Given the description of an element on the screen output the (x, y) to click on. 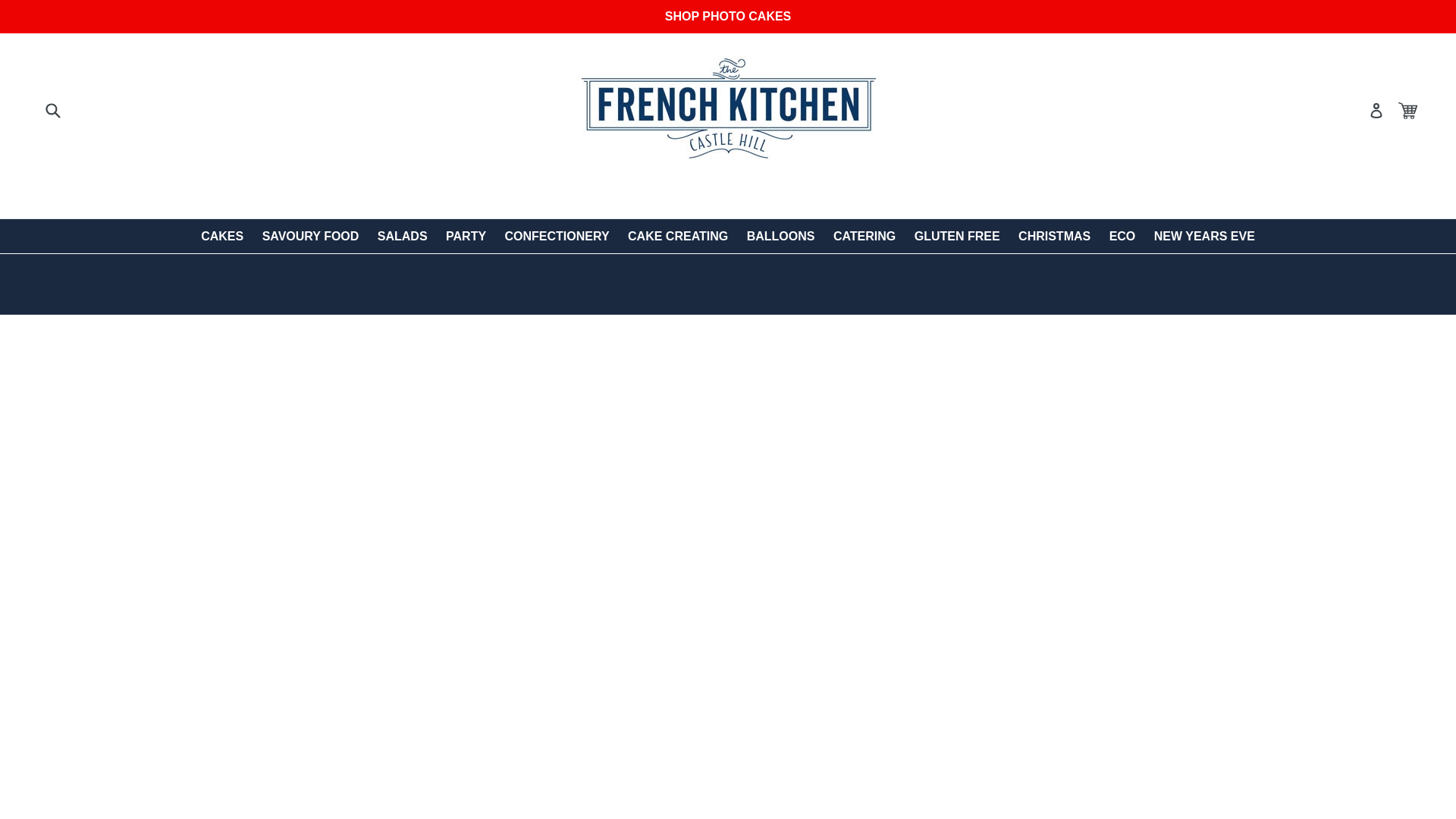
SAVOURY FOOD (310, 235)
CHRISTMAS (1053, 235)
CAKE CREATING (677, 235)
CONFECTIONERY (557, 235)
SALADS (402, 235)
ECO (1122, 235)
BALLOONS (780, 235)
GLUTEN FREE (957, 235)
PARTY (465, 235)
CAKES (221, 235)
